Given the description of an element on the screen output the (x, y) to click on. 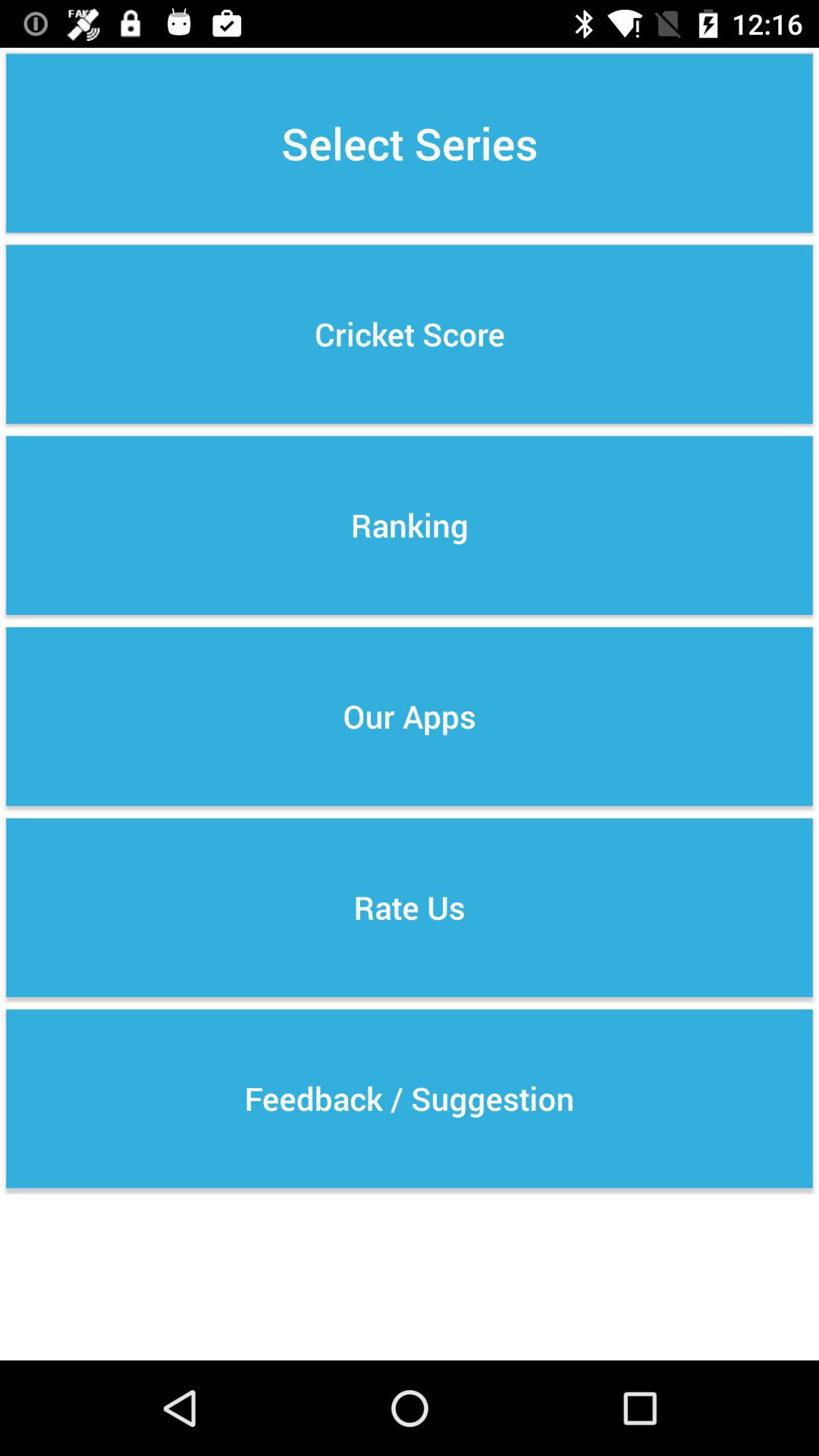
jump until select series button (409, 143)
